Given the description of an element on the screen output the (x, y) to click on. 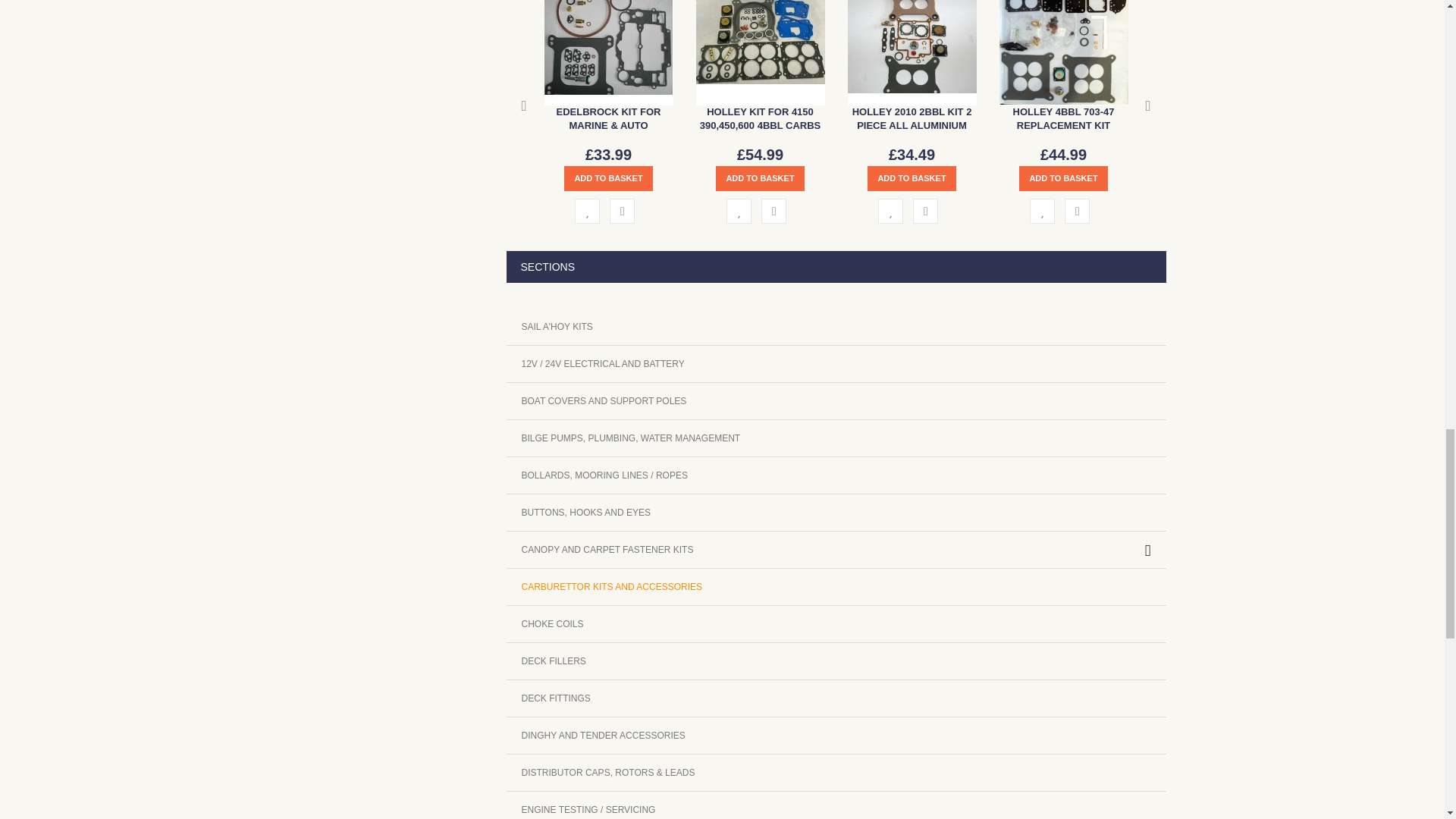
Add to Basket (608, 178)
Add to Basket (759, 178)
Add to Basket (911, 178)
